Given the description of an element on the screen output the (x, y) to click on. 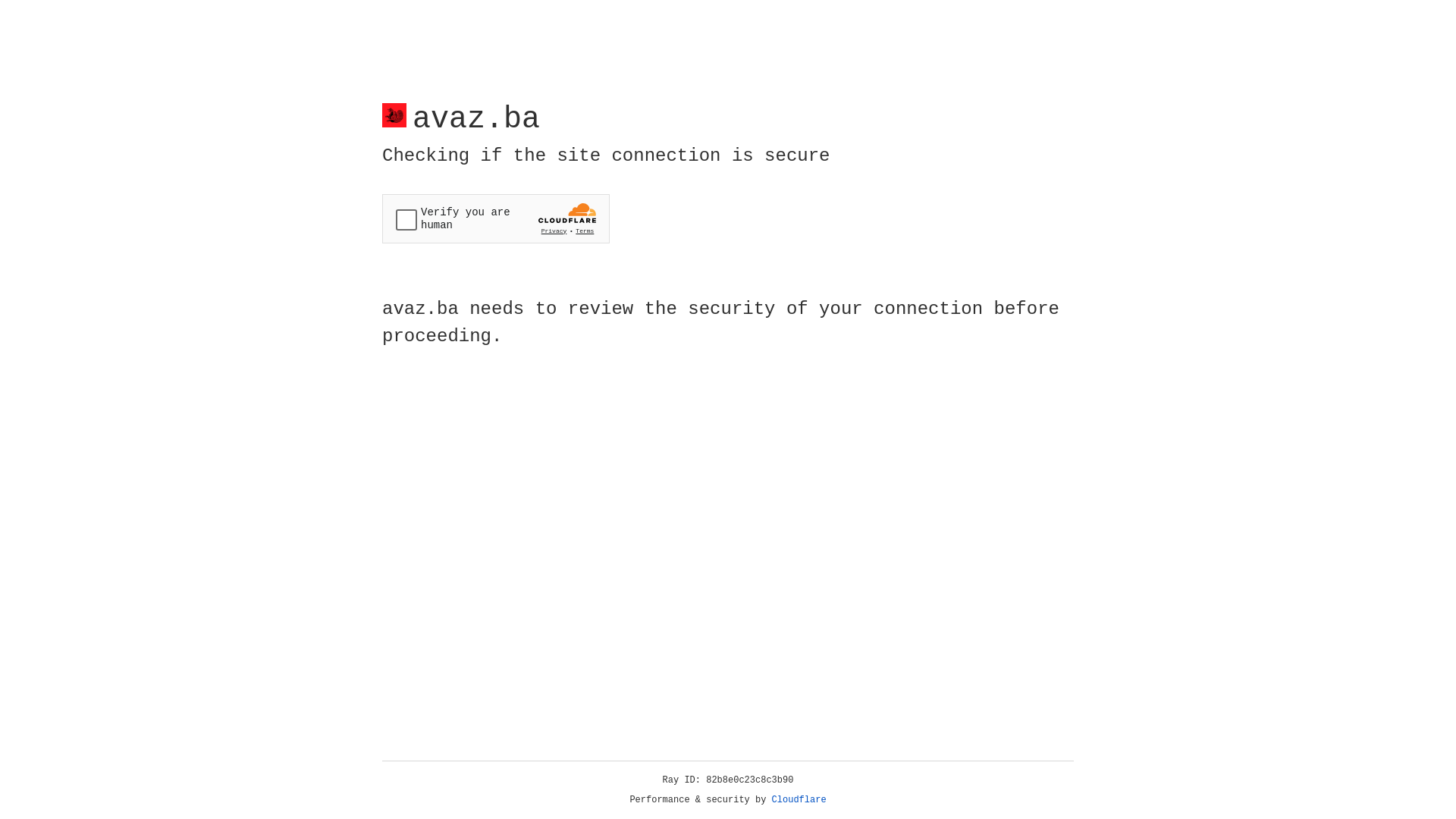
Cloudflare Element type: text (798, 799)
Widget containing a Cloudflare security challenge Element type: hover (495, 218)
